Given the description of an element on the screen output the (x, y) to click on. 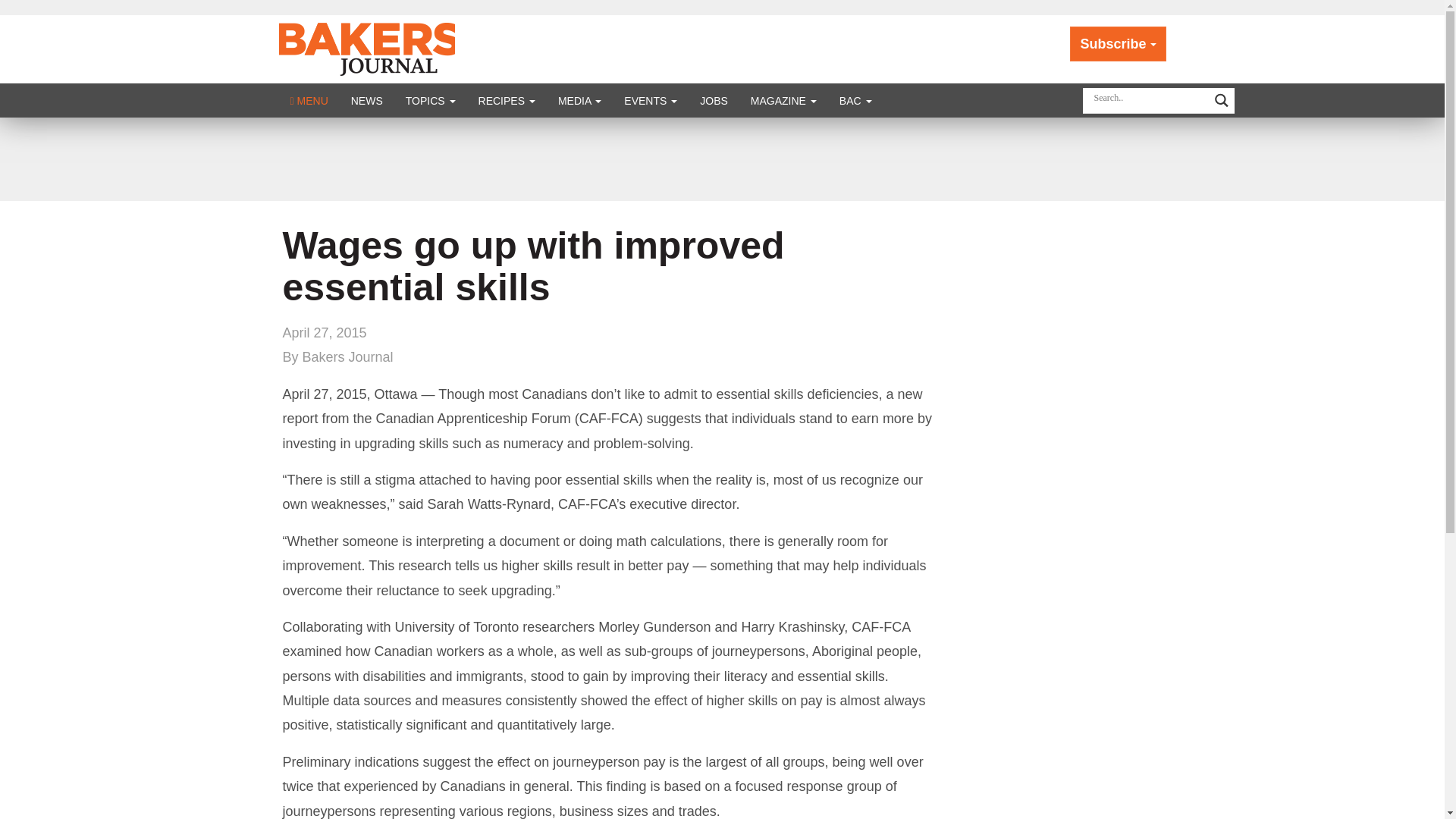
Bakers Journal (368, 48)
Click to show site navigation (309, 100)
MEDIA (579, 100)
3rd party ad content (721, 159)
MAGAZINE (783, 100)
MENU (309, 100)
RECIPES (507, 100)
Subscribe (1118, 43)
TOPICS (430, 100)
EVENTS (650, 100)
NEWS (366, 100)
JOBS (713, 100)
